Given the description of an element on the screen output the (x, y) to click on. 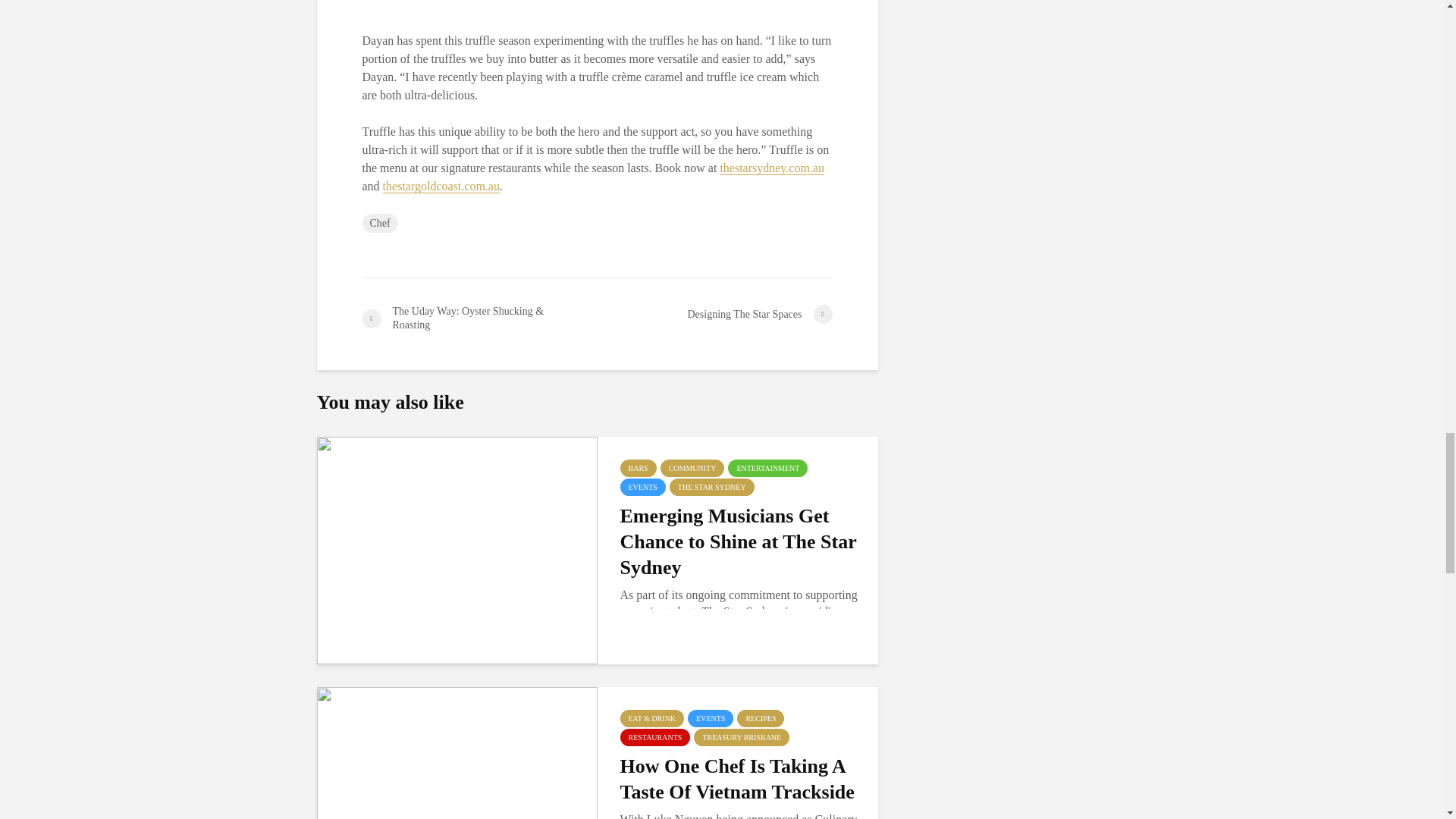
RESTAURANTS (655, 737)
Emerging Musicians Get Chance to Shine at The Star Sydney (740, 541)
TREASURY BRISBANE (741, 737)
COMMUNITY (693, 467)
How One Chef Is Taking A Taste Of Vietnam Trackside (456, 799)
THE STAR SYDNEY (711, 487)
How One Chef Is Taking A Taste Of Vietnam Trackside (740, 779)
RECIPES (760, 718)
EVENTS (710, 718)
Designing The Star Spaces (714, 313)
BARS (638, 467)
thestargoldcoast.com.au (440, 186)
Chef (379, 222)
Emerging Musicians Get Chance to Shine at The Star Sydney (456, 549)
EVENTS (642, 487)
